Given the description of an element on the screen output the (x, y) to click on. 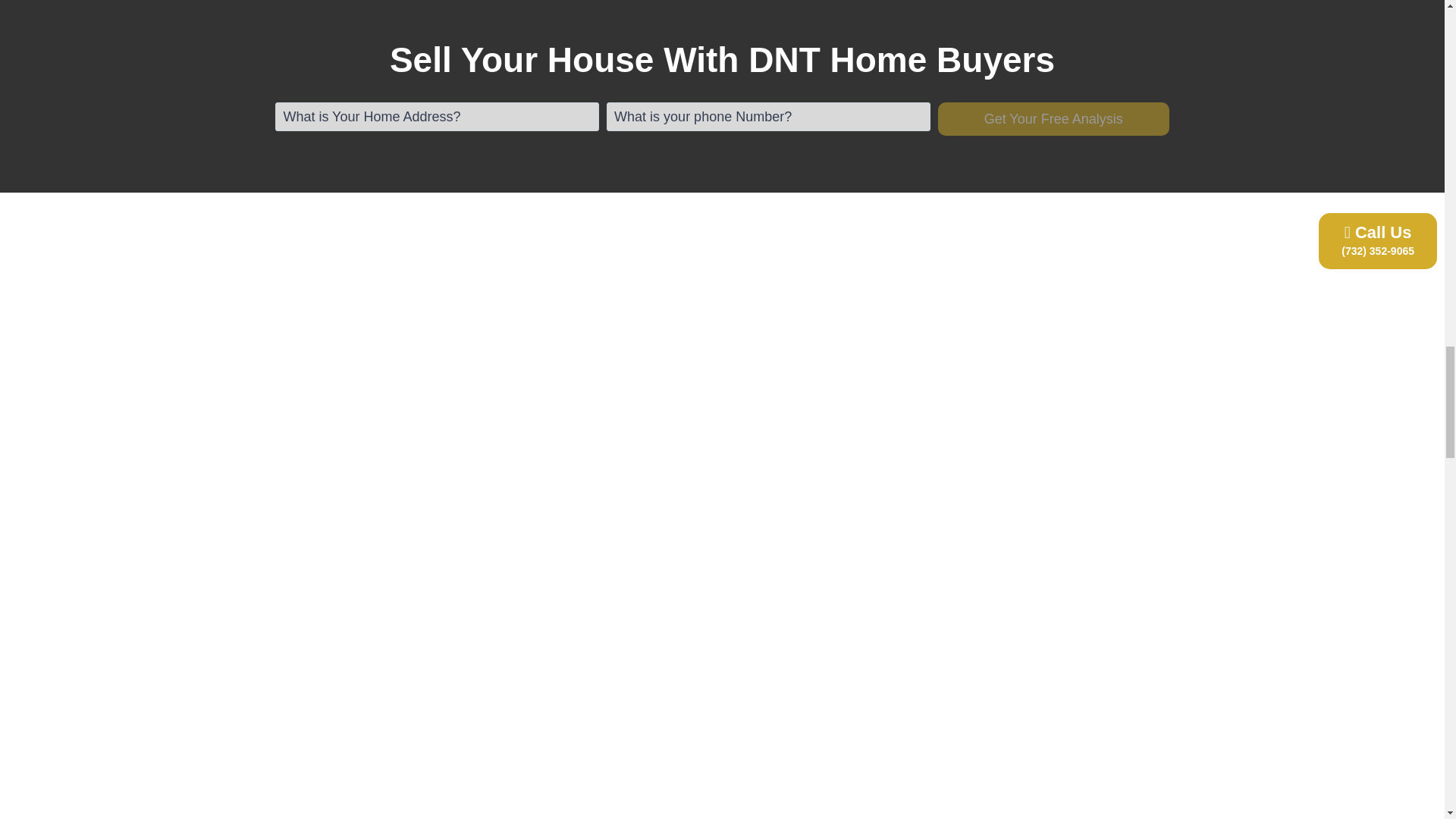
Get Your Free Analysis (1053, 118)
